Given the description of an element on the screen output the (x, y) to click on. 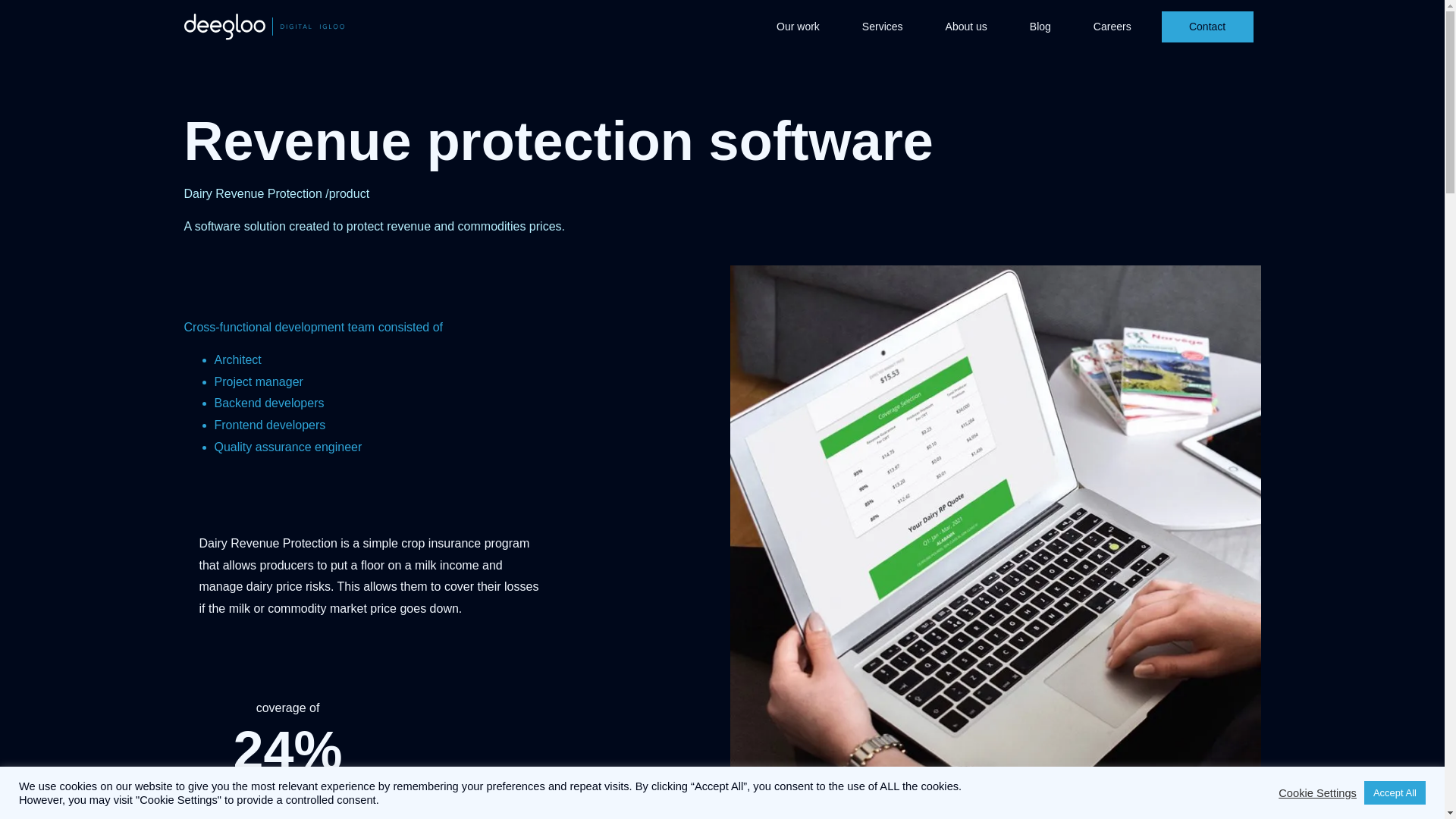
Blog (1039, 26)
Our work (797, 26)
Contact (1207, 26)
Careers (1112, 26)
Services (882, 26)
About us (966, 26)
